Given the description of an element on the screen output the (x, y) to click on. 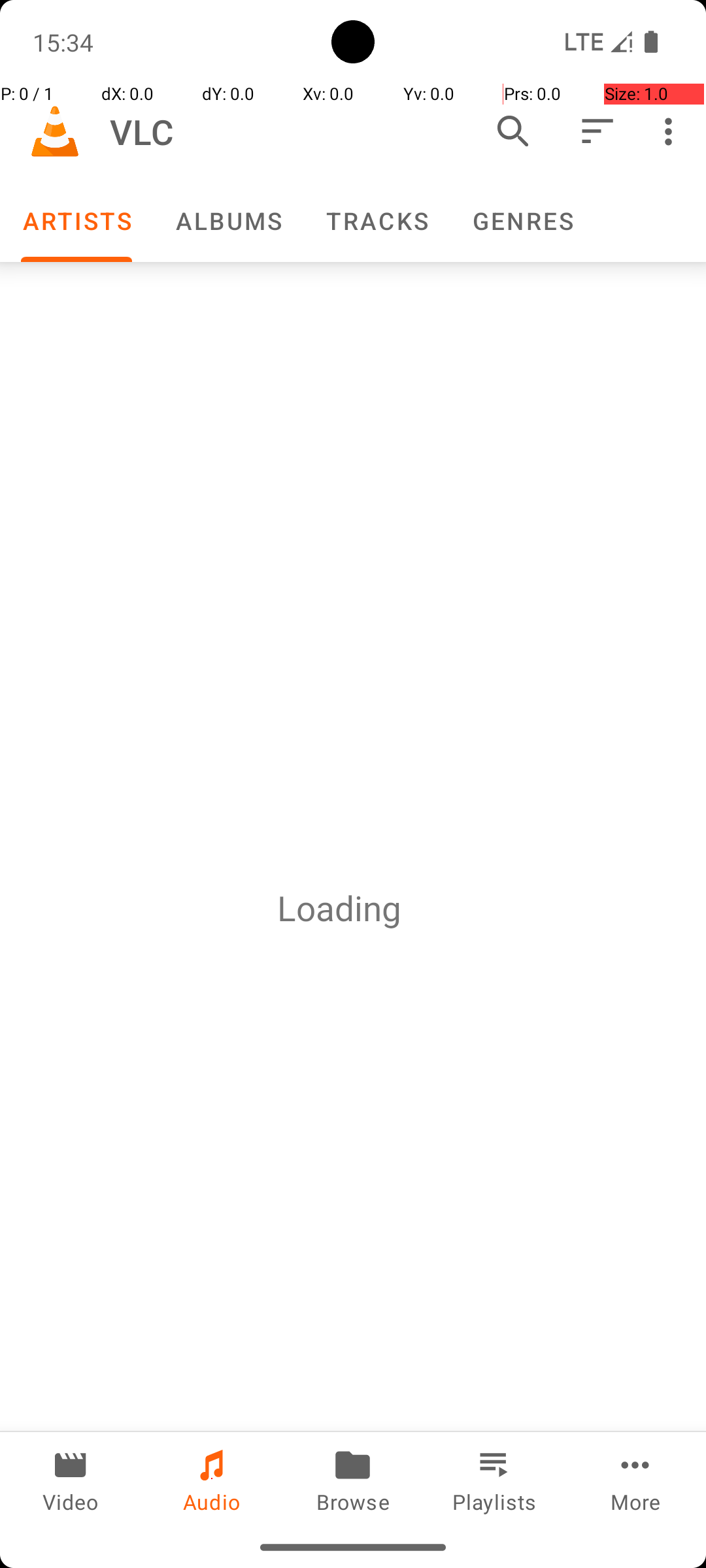
Sort by… Element type: android.widget.TextView (595, 131)
Loading Element type: android.widget.TextView (339, 907)
Tracks Element type: android.widget.LinearLayout (376, 220)
Genres Element type: android.widget.LinearLayout (521, 220)
ARTISTS Element type: android.widget.TextView (76, 220)
ALBUMS Element type: android.widget.TextView (227, 220)
TRACKS Element type: android.widget.TextView (376, 220)
GENRES Element type: android.widget.TextView (521, 220)
